Given the description of an element on the screen output the (x, y) to click on. 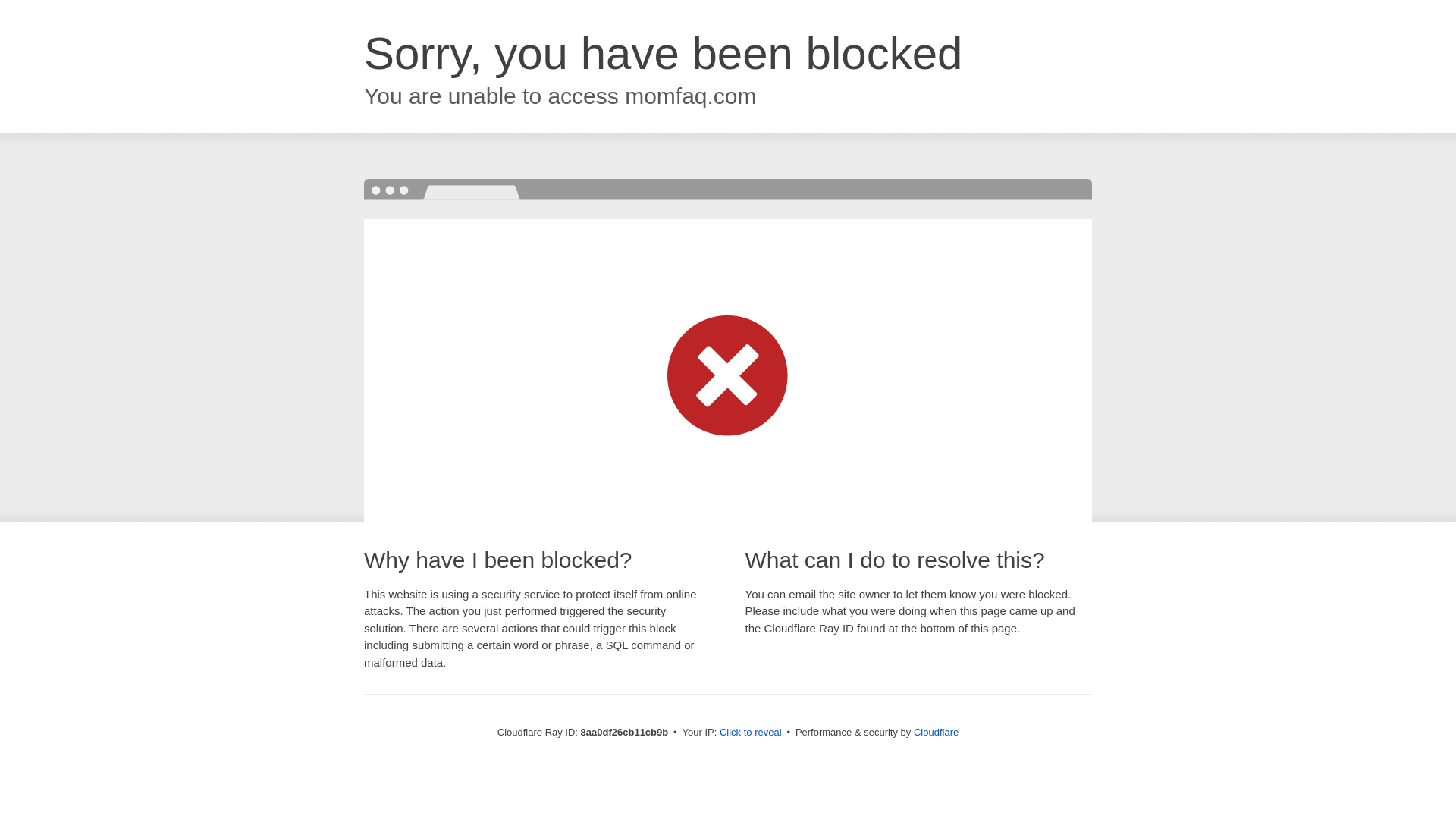
Click to reveal (750, 732)
Cloudflare (936, 731)
